Given the description of an element on the screen output the (x, y) to click on. 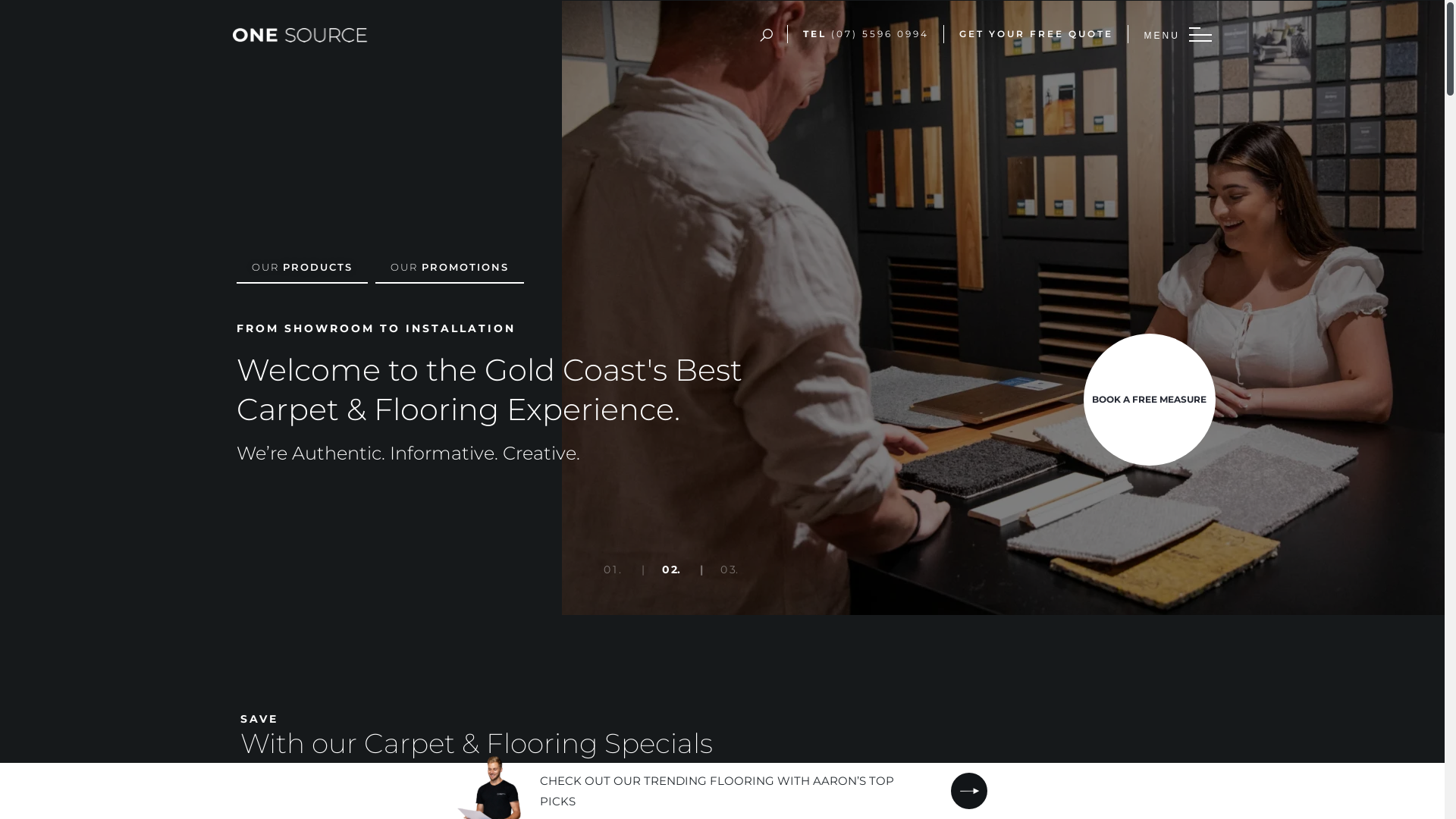
BOOK A FREE MEASURE Element type: text (1149, 399)
OUR PROMOTIONS Element type: text (448, 267)
MENU Element type: text (1200, 34)
Search Element type: text (994, 19)
GET YOUR FREE QUOTE Element type: text (1036, 33)
OUR PRODUCTS Element type: text (301, 267)
form-arrow Element type: hover (968, 790)
TEL (07) 5596 0994 Element type: text (865, 33)
